Given the description of an element on the screen output the (x, y) to click on. 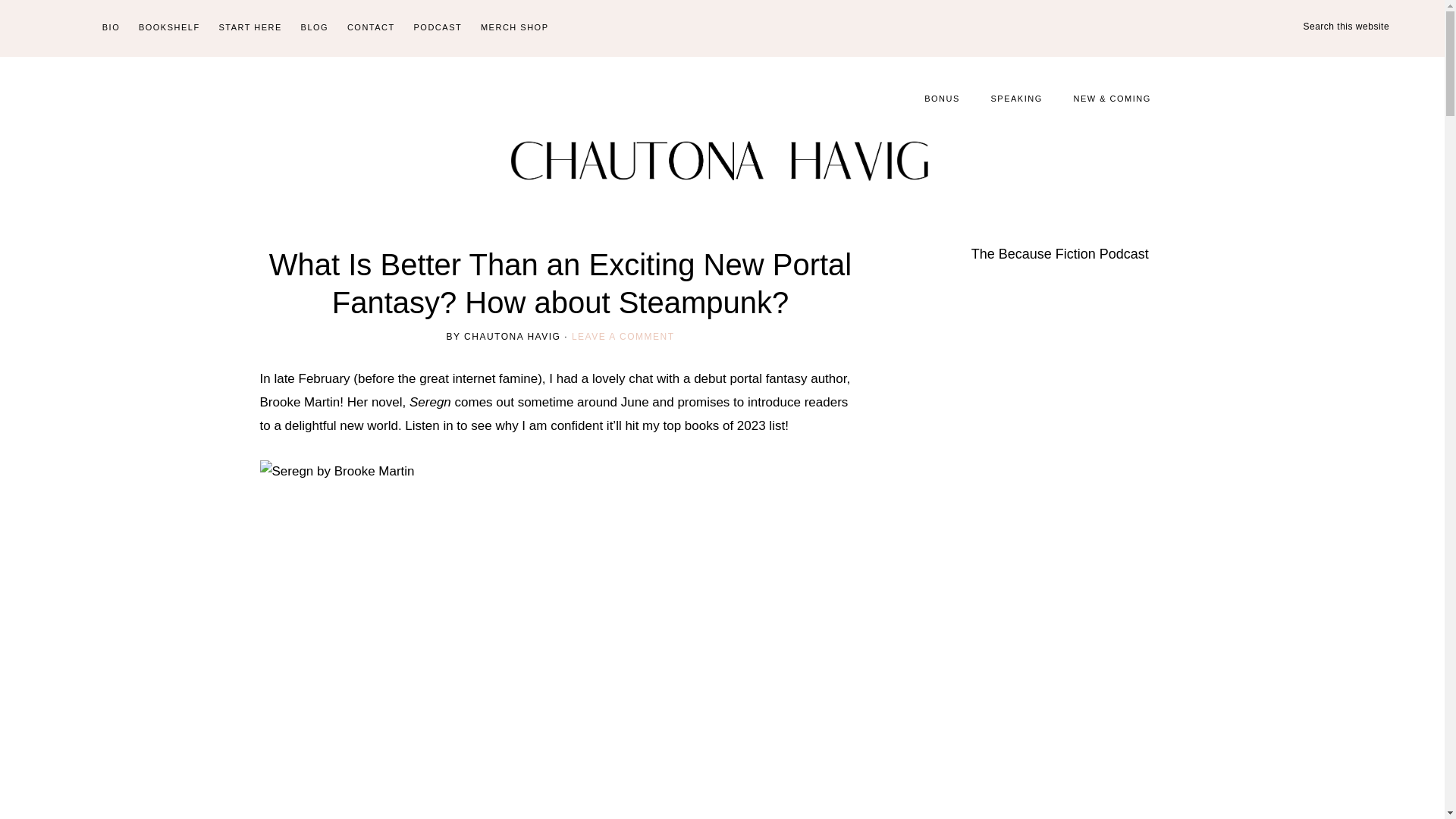
BLOG (315, 27)
PODCAST (438, 27)
BOOKSHELF (169, 27)
MERCH SHOP (514, 27)
START HERE (249, 27)
BIO (111, 27)
